Given the description of an element on the screen output the (x, y) to click on. 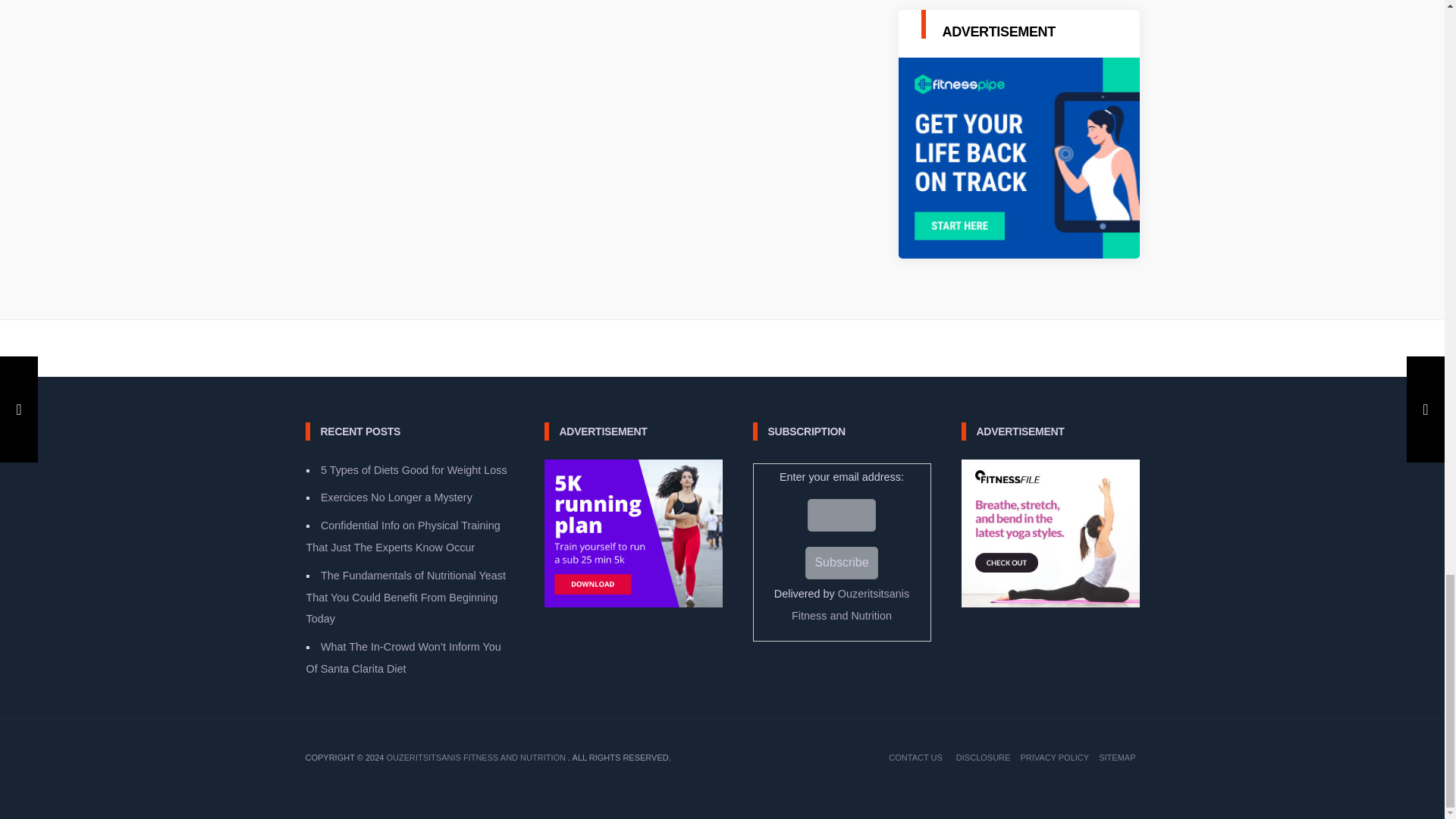
Subscribe (841, 563)
